Given the description of an element on the screen output the (x, y) to click on. 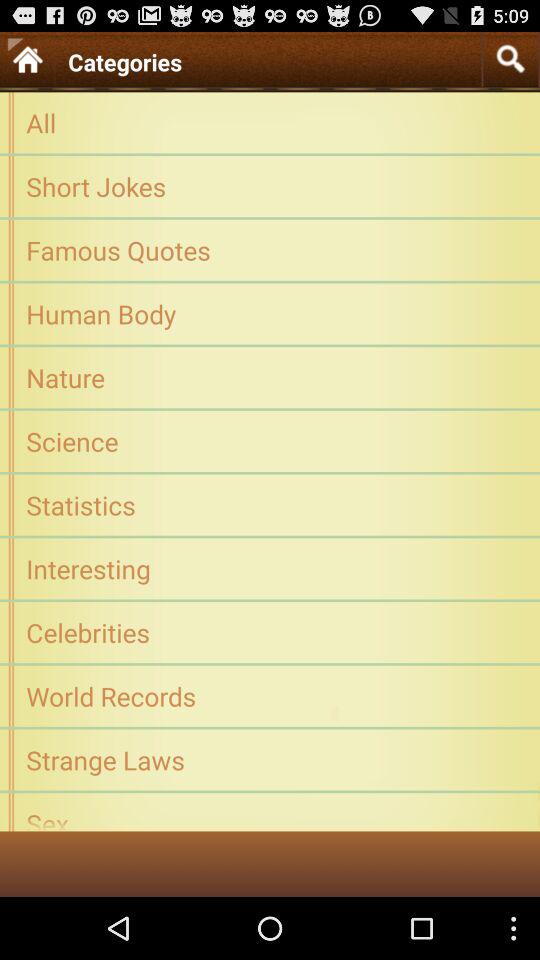
go home (27, 58)
